Given the description of an element on the screen output the (x, y) to click on. 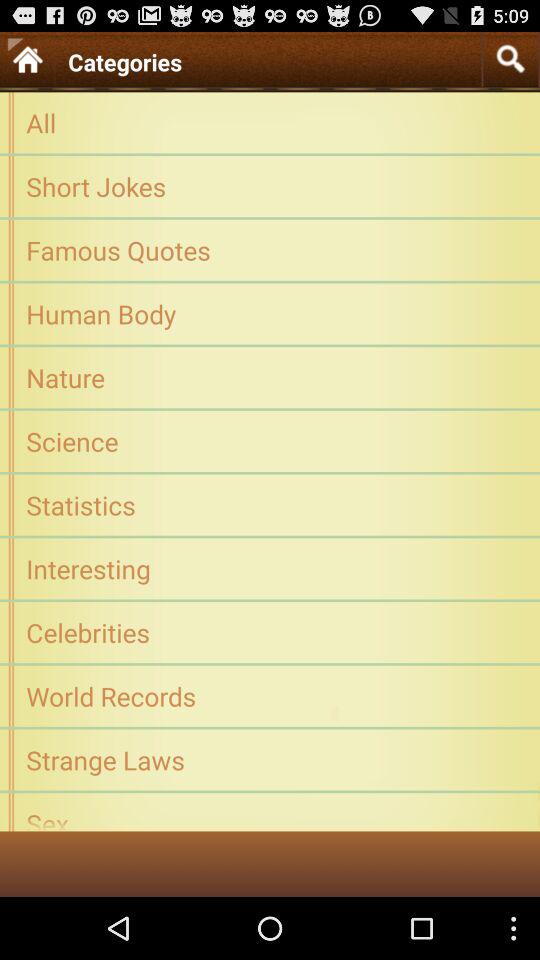
go home (27, 58)
